Given the description of an element on the screen output the (x, y) to click on. 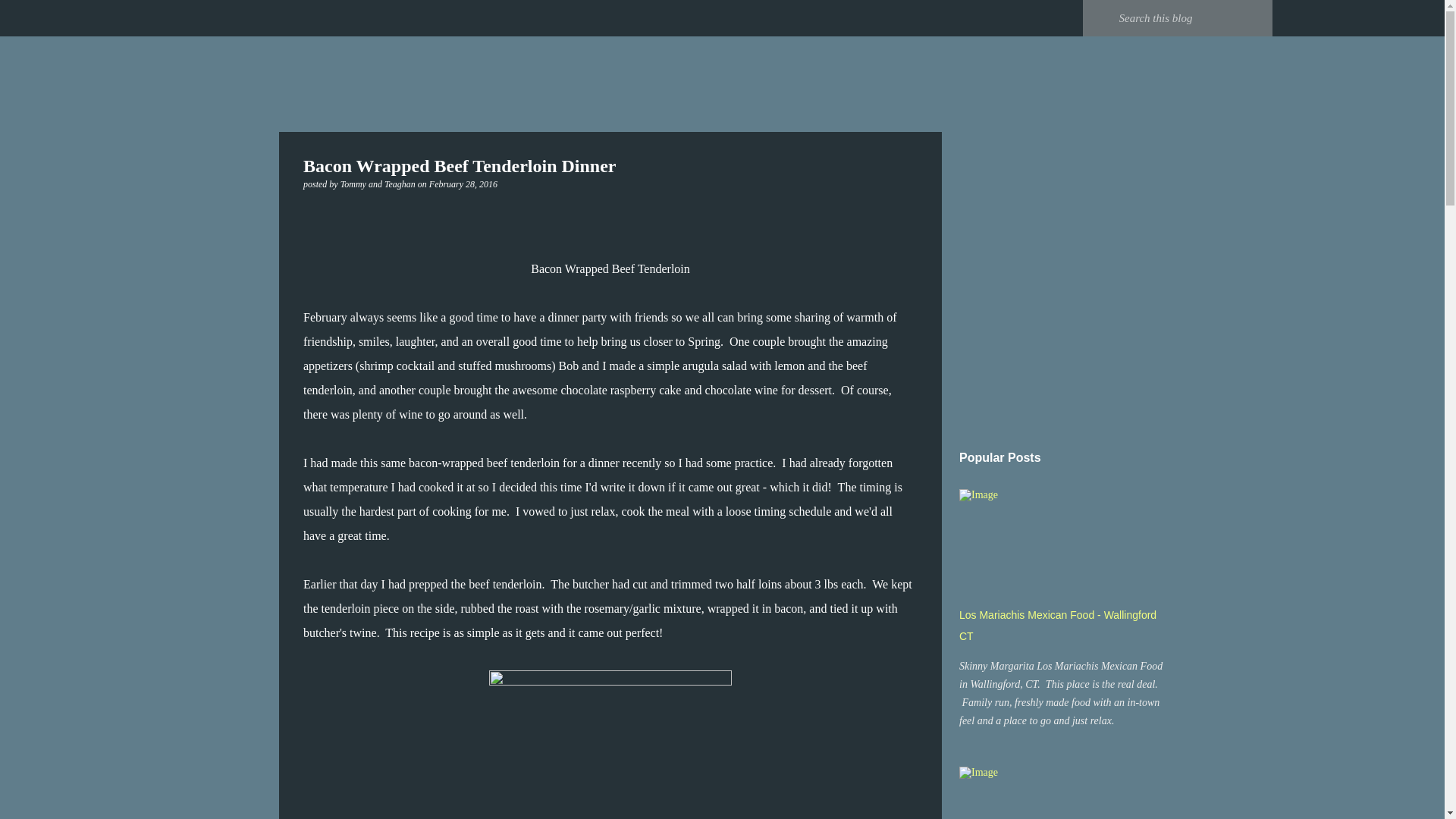
February 28, 2016 (463, 184)
Los Mariachis Mexican Food - Wallingford CT (1057, 625)
Tommy and Teaghan (378, 184)
permanent link (463, 184)
author profile (378, 184)
